Given the description of an element on the screen output the (x, y) to click on. 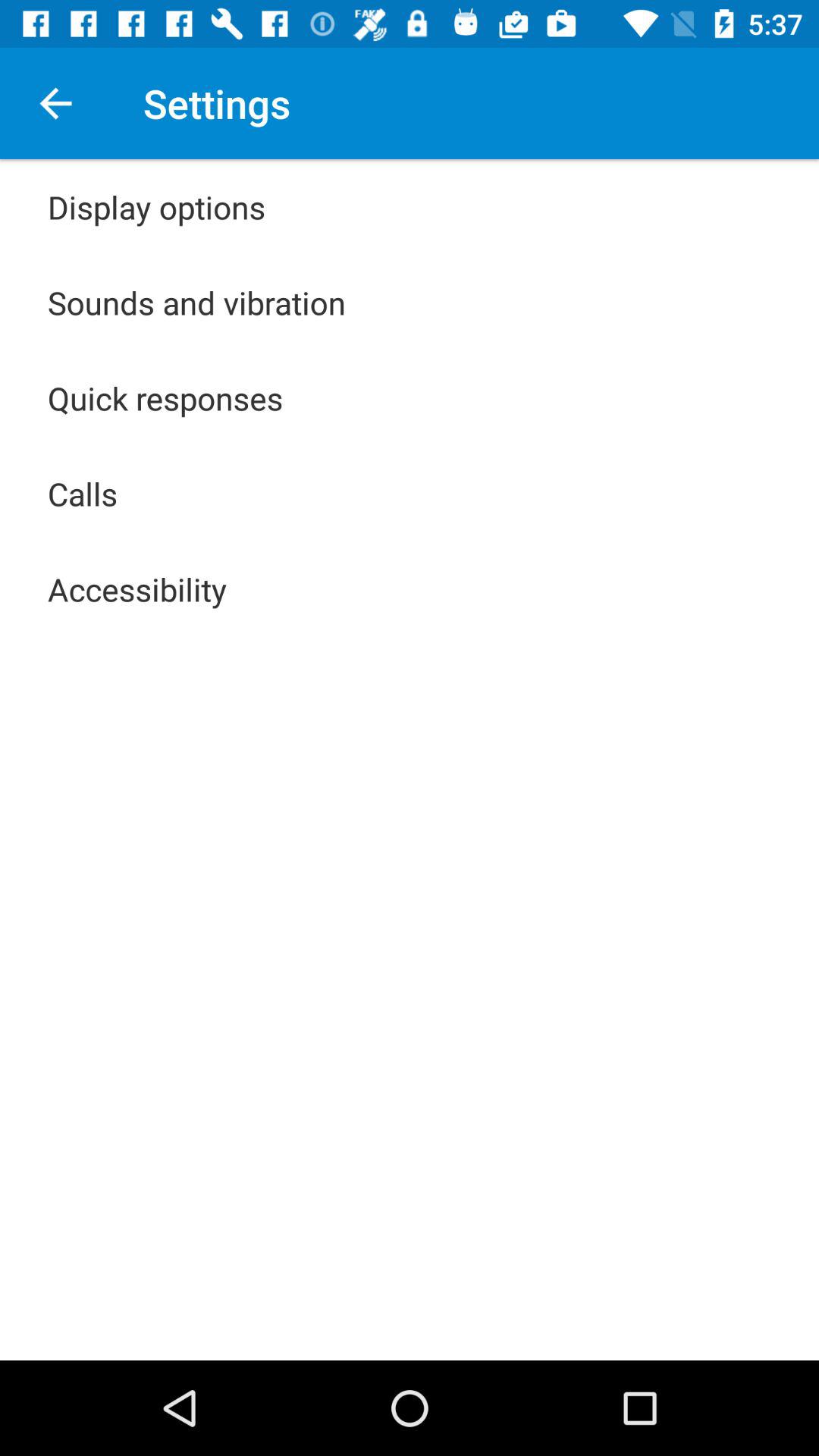
launch icon below calls item (136, 588)
